Given the description of an element on the screen output the (x, y) to click on. 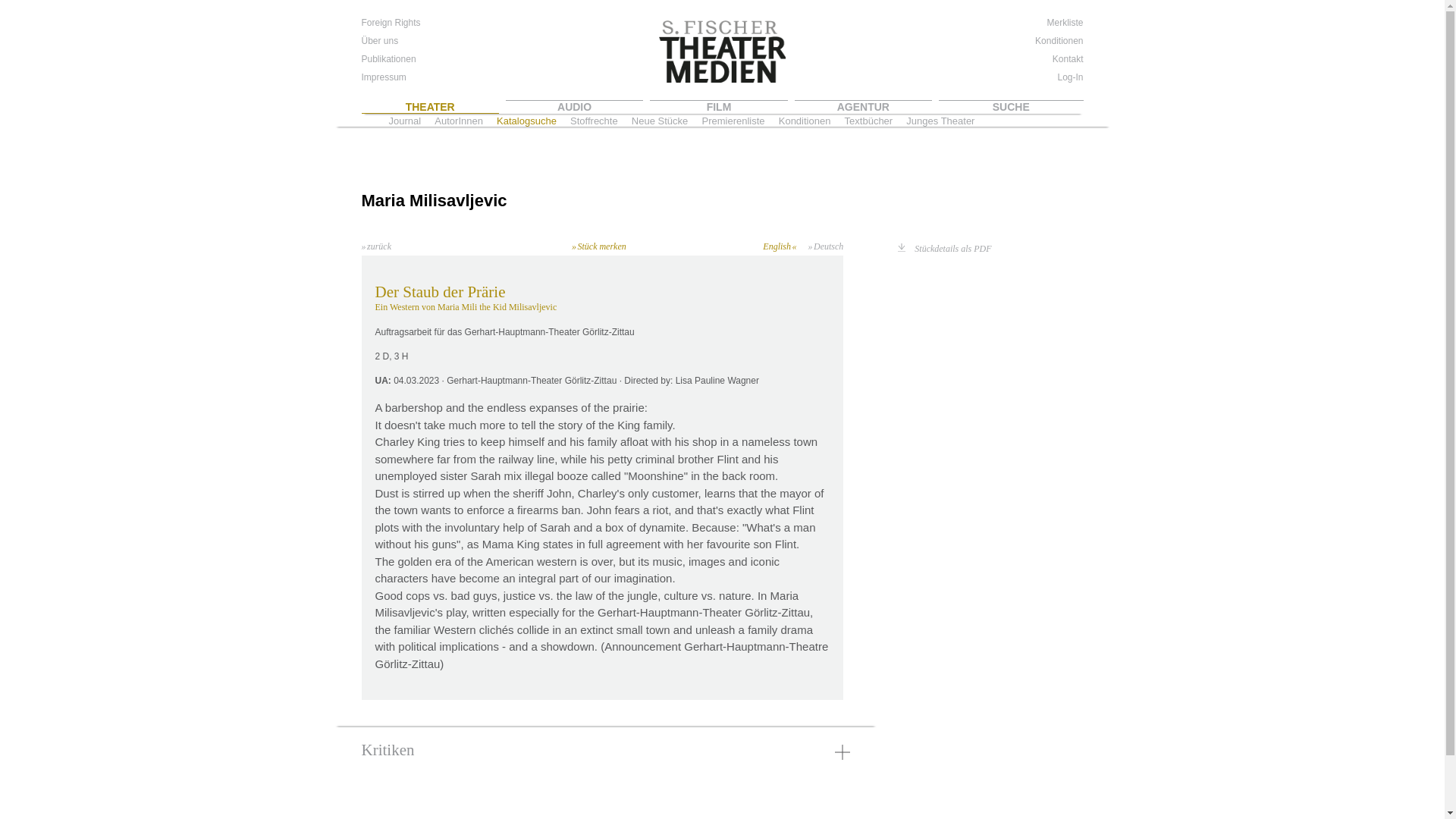
AUDIO (574, 106)
Journal (404, 120)
 Merkliste (1063, 22)
Premierenliste (732, 120)
FILM (718, 106)
Foreign Rights (390, 22)
Konditionen (1059, 40)
Junges Theater (939, 120)
Publikationen (387, 59)
Stoffrechte (593, 120)
